Given the description of an element on the screen output the (x, y) to click on. 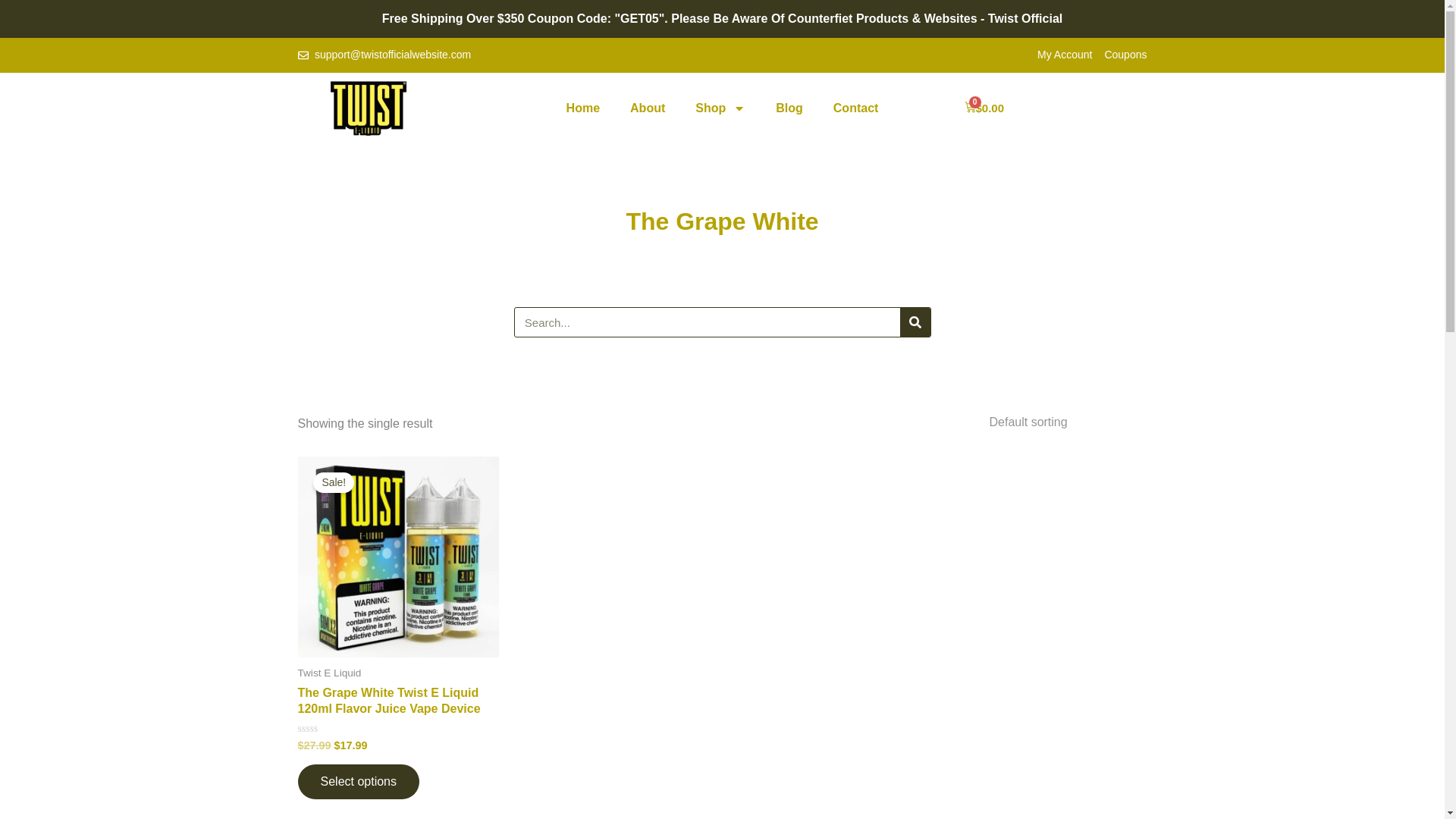
My Account (1064, 55)
Blog (789, 108)
Select options (358, 781)
Coupons (1125, 55)
Search (914, 321)
About (646, 108)
Home (582, 108)
Shop (719, 108)
Contact (855, 108)
